Given the description of an element on the screen output the (x, y) to click on. 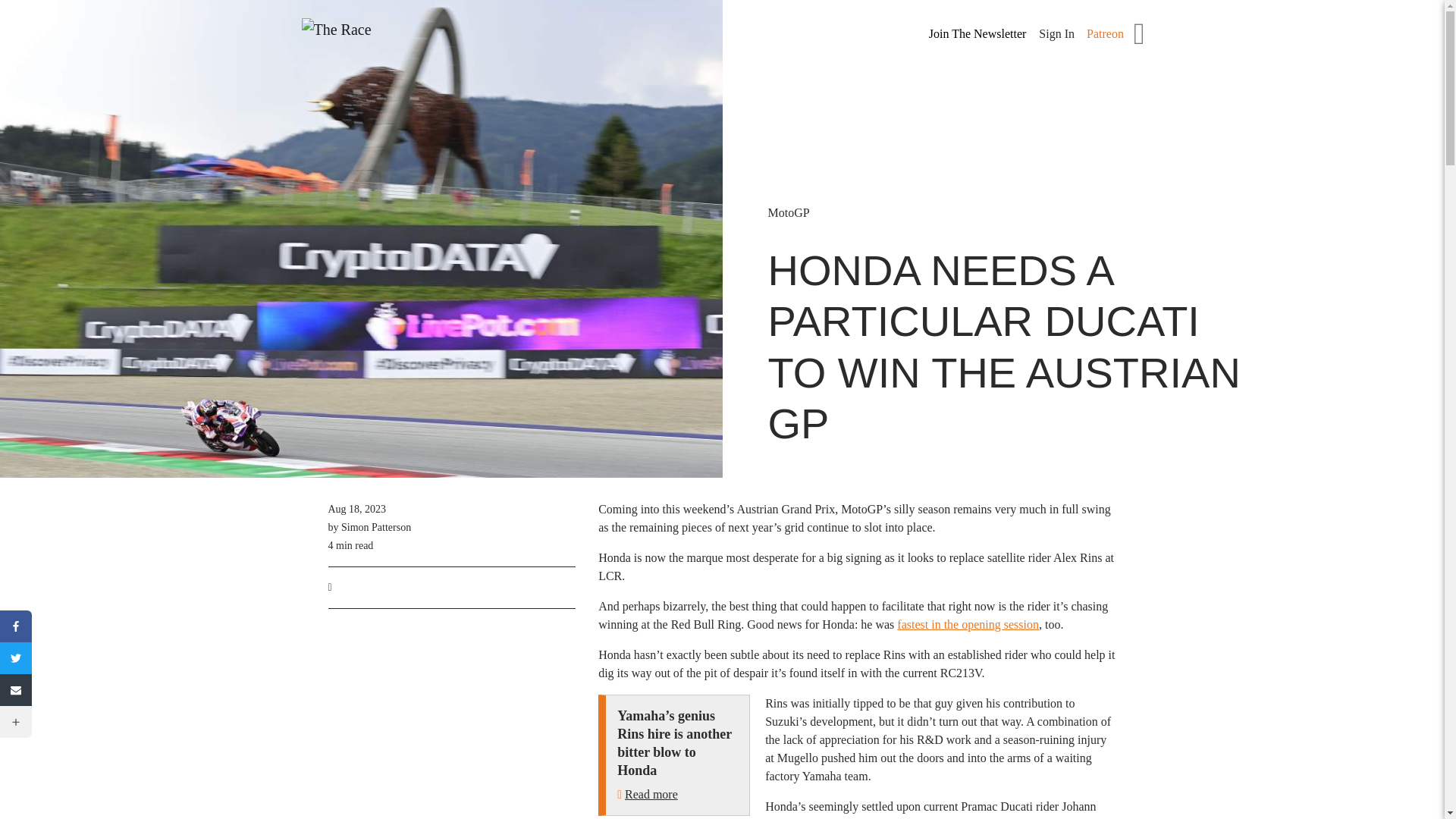
Patreon (1105, 33)
fastest in the opening session (967, 624)
Sign In (1056, 33)
Read more (651, 793)
Join The Newsletter (977, 34)
